Given the description of an element on the screen output the (x, y) to click on. 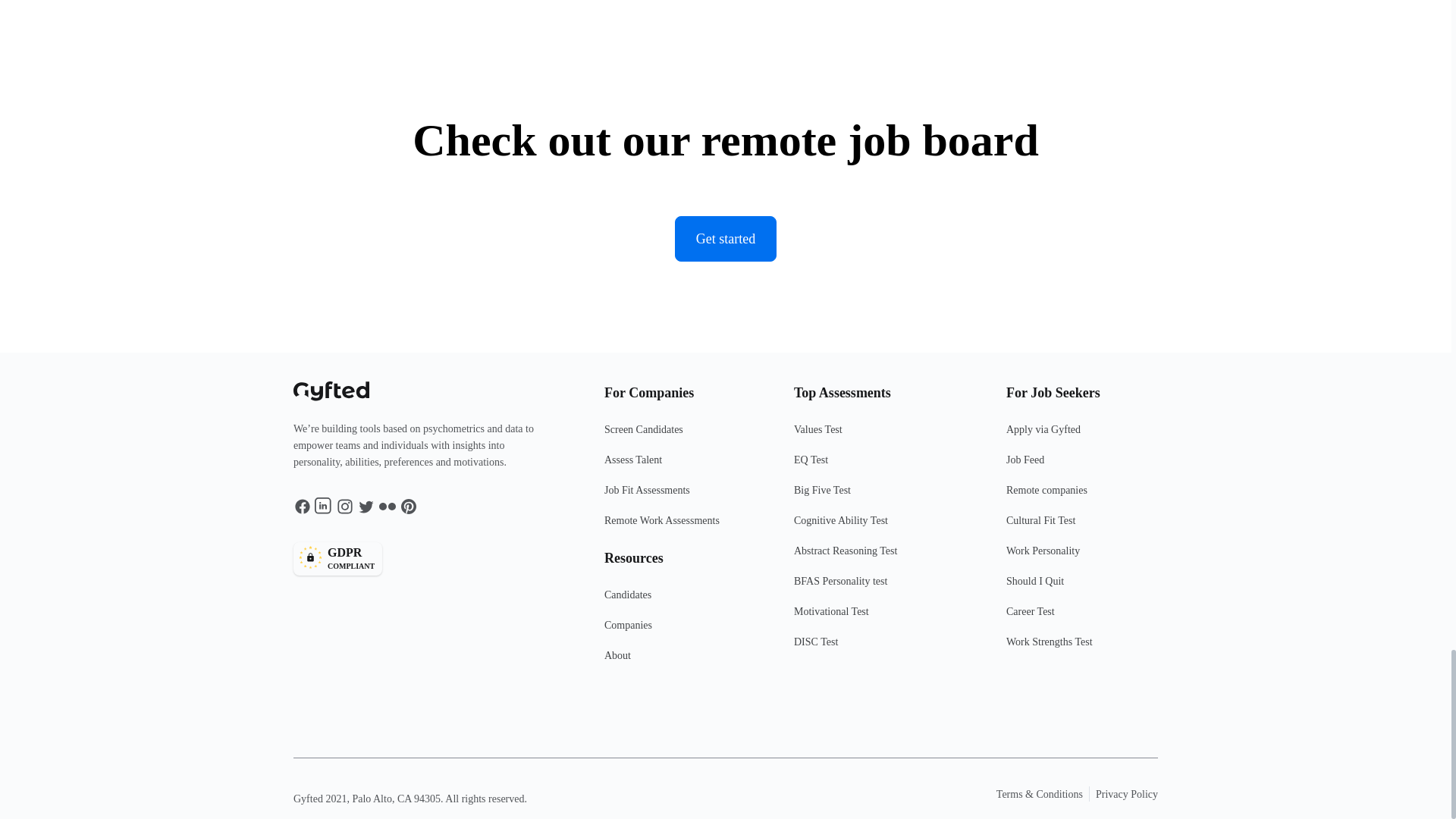
Screen Candidates (679, 435)
Remote Work Assessments (679, 526)
Assess Talent (679, 466)
Get started (725, 238)
Job Fit Assessments (425, 558)
Candidates (679, 496)
